Given the description of an element on the screen output the (x, y) to click on. 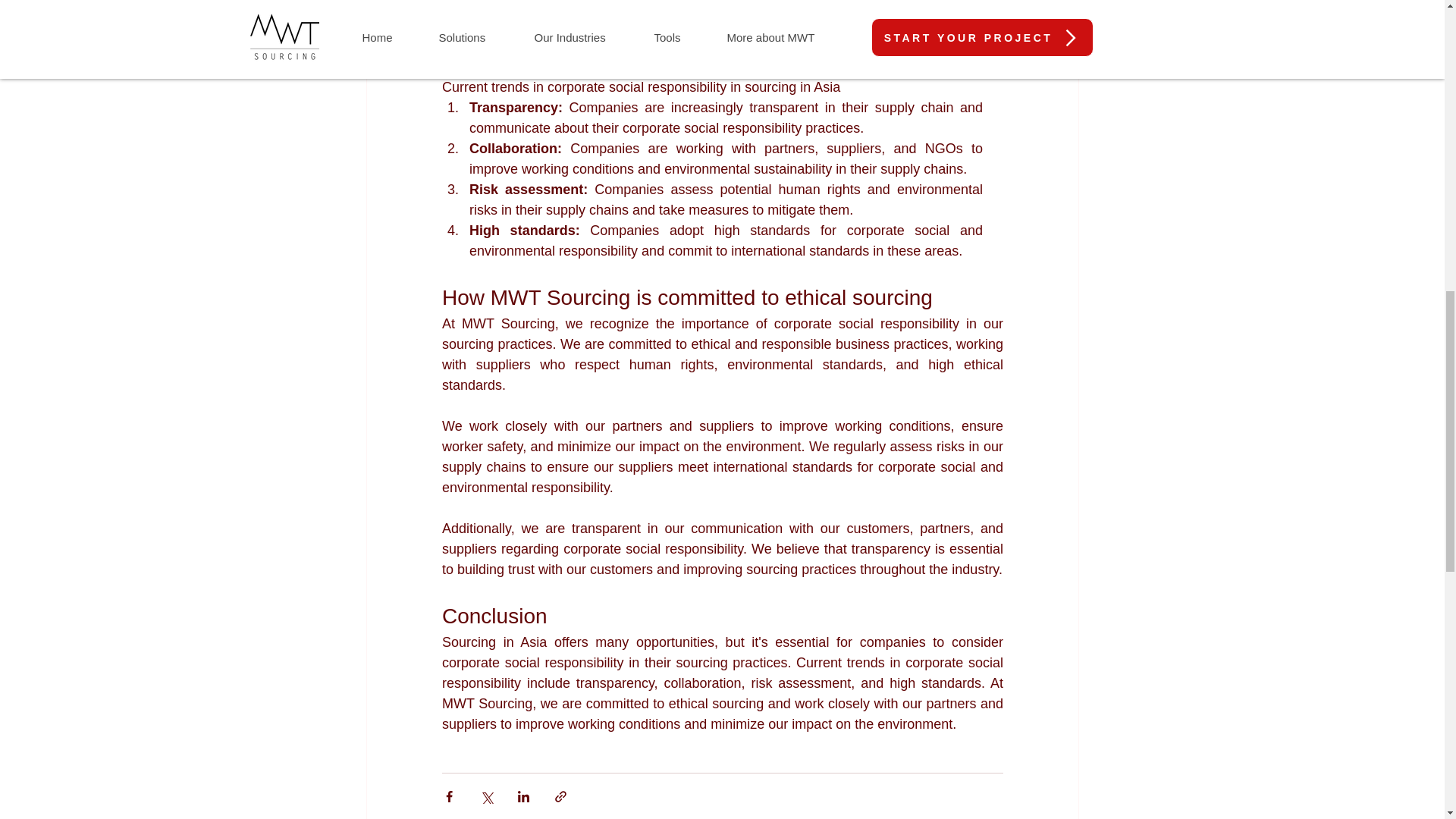
corporate social responsibility (633, 25)
